Given the description of an element on the screen output the (x, y) to click on. 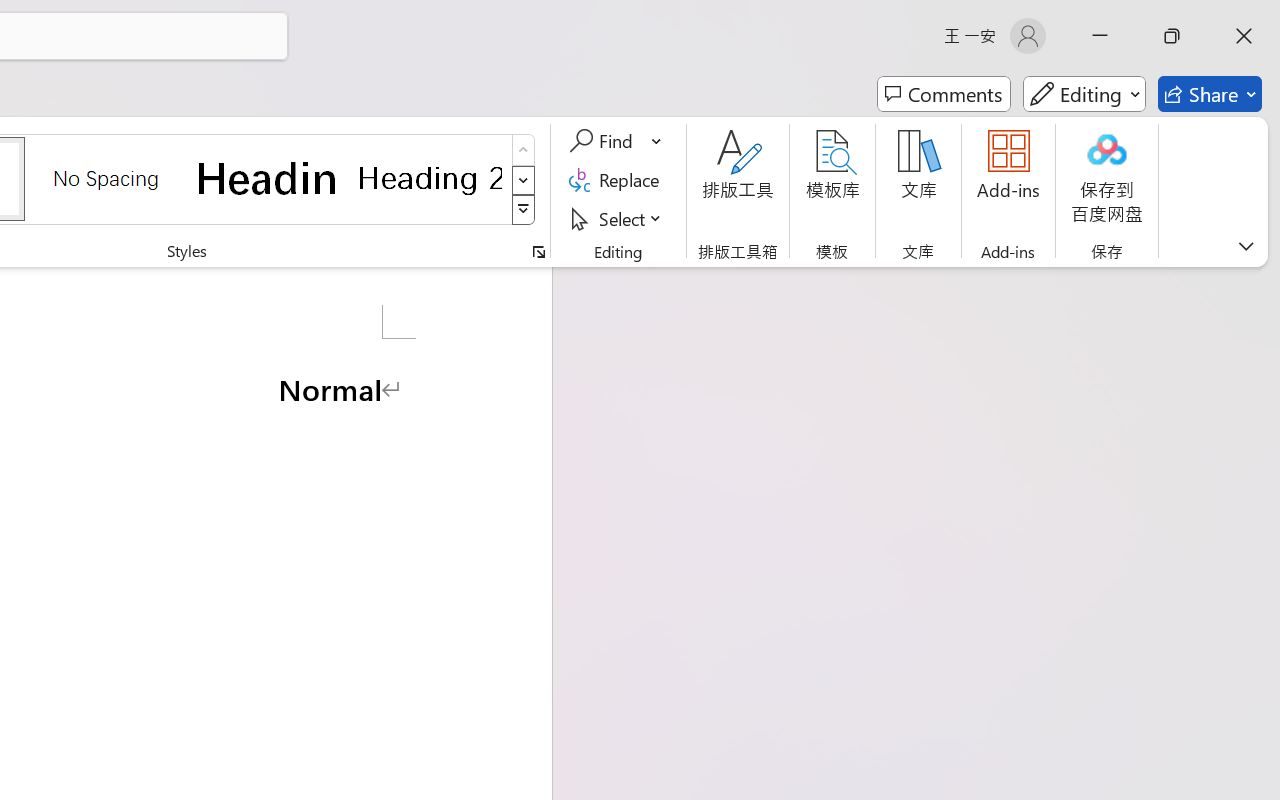
Select (618, 218)
Row up (523, 150)
Styles (523, 209)
Heading 1 (267, 178)
Replace... (617, 179)
Mode (1083, 94)
